Given the description of an element on the screen output the (x, y) to click on. 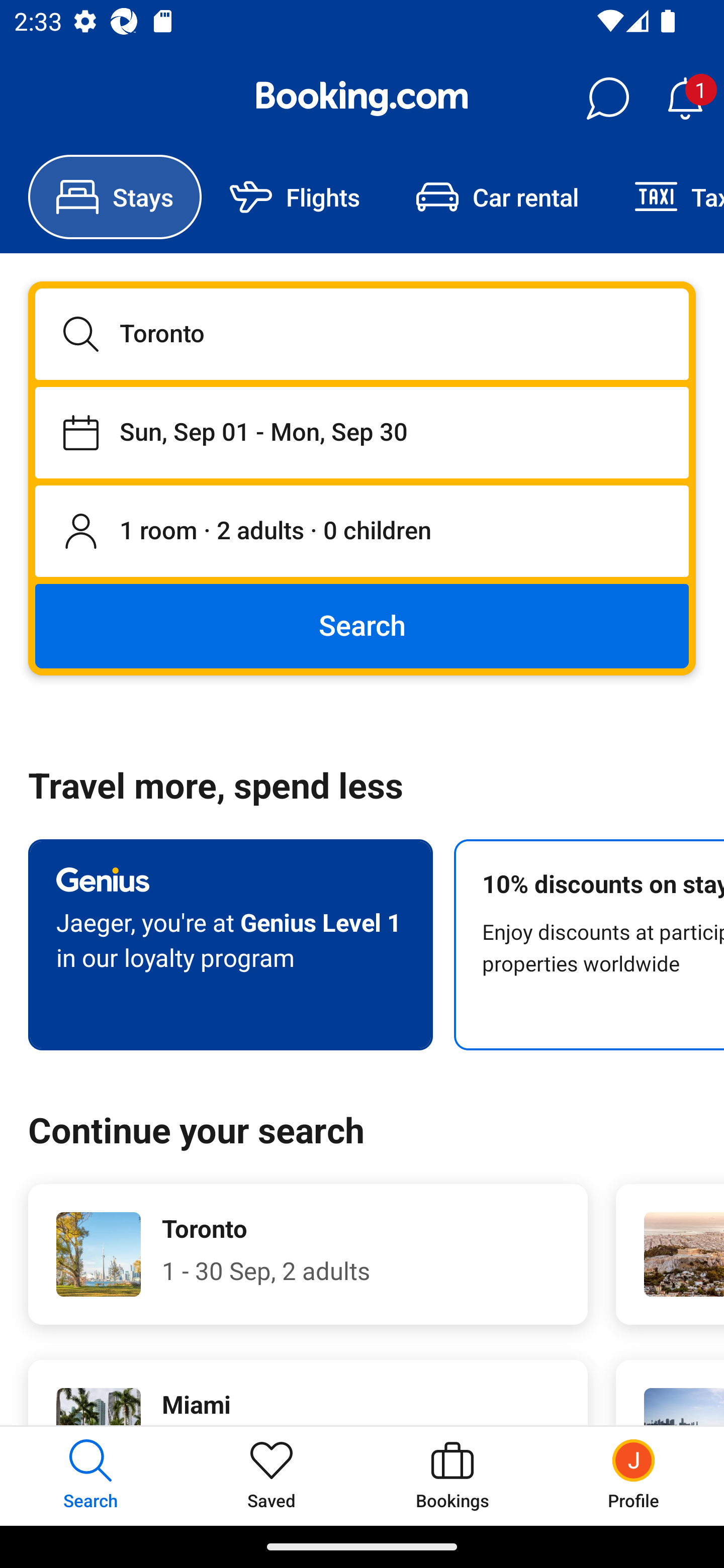
Messages (607, 98)
Notifications (685, 98)
Stays (114, 197)
Flights (294, 197)
Car rental (497, 197)
Taxi (665, 197)
Toronto (361, 333)
Staying from Sun, Sep 01 until Mon, Sep 30 (361, 432)
1 room, 2 adults, 0 children (361, 531)
Search (361, 625)
Toronto 1 - 30 Sep, 2 adults (307, 1253)
Saved (271, 1475)
Bookings (452, 1475)
Profile (633, 1475)
